Given the description of an element on the screen output the (x, y) to click on. 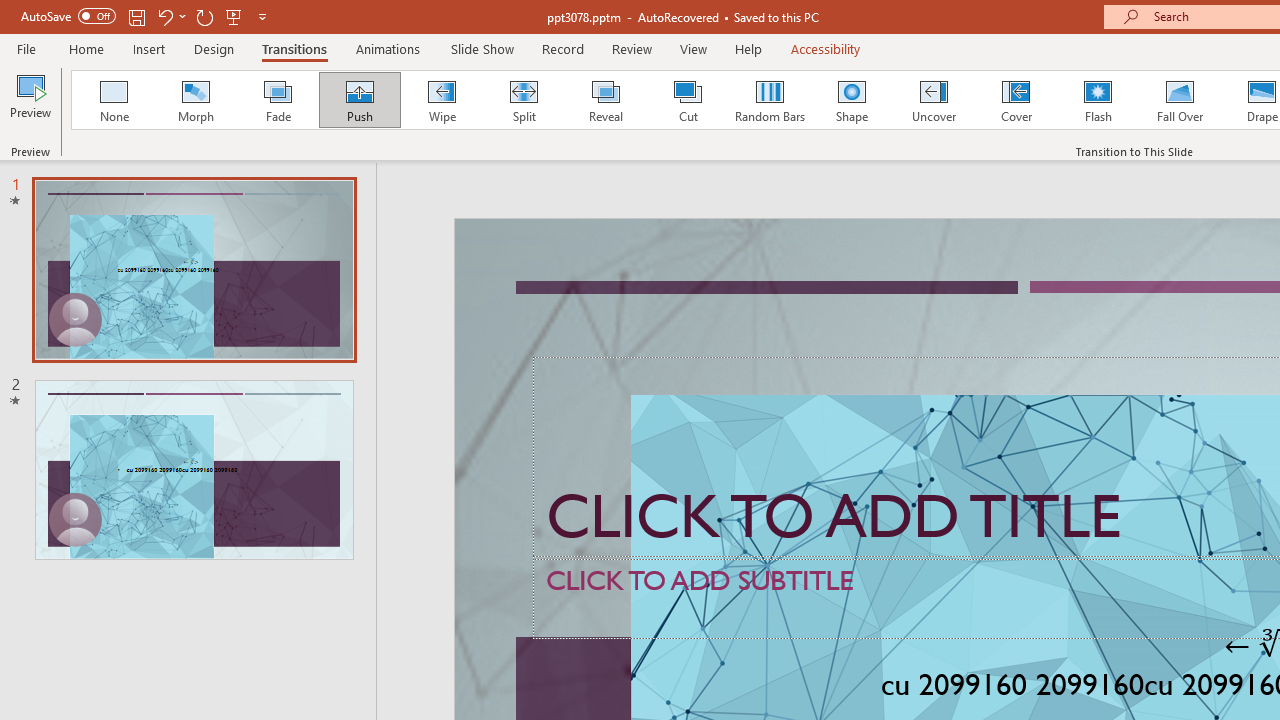
Uncover (934, 100)
Fall Over (1180, 100)
Flash (1098, 100)
Wipe (441, 100)
